Given the description of an element on the screen output the (x, y) to click on. 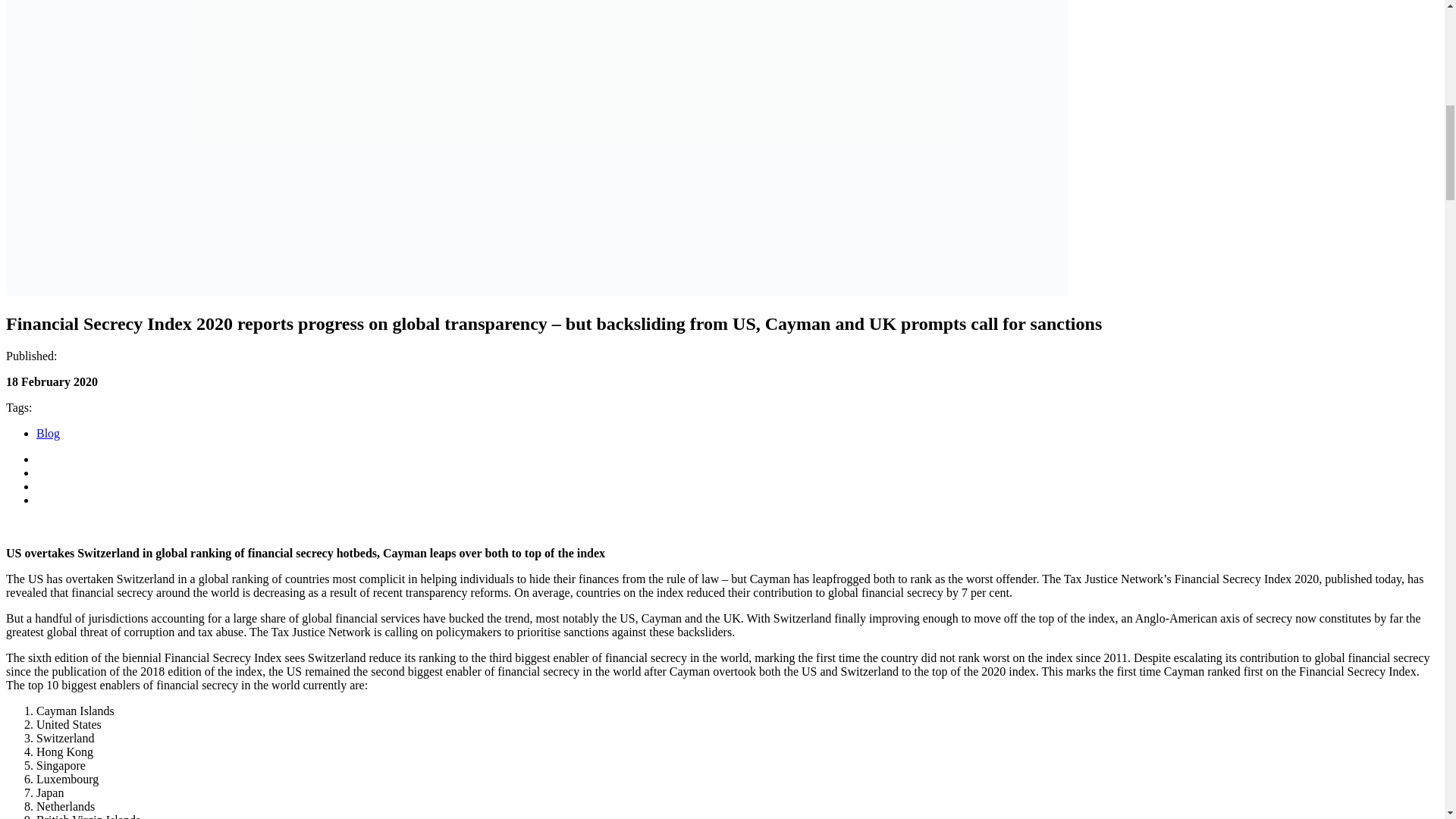
Blog (47, 432)
